Given the description of an element on the screen output the (x, y) to click on. 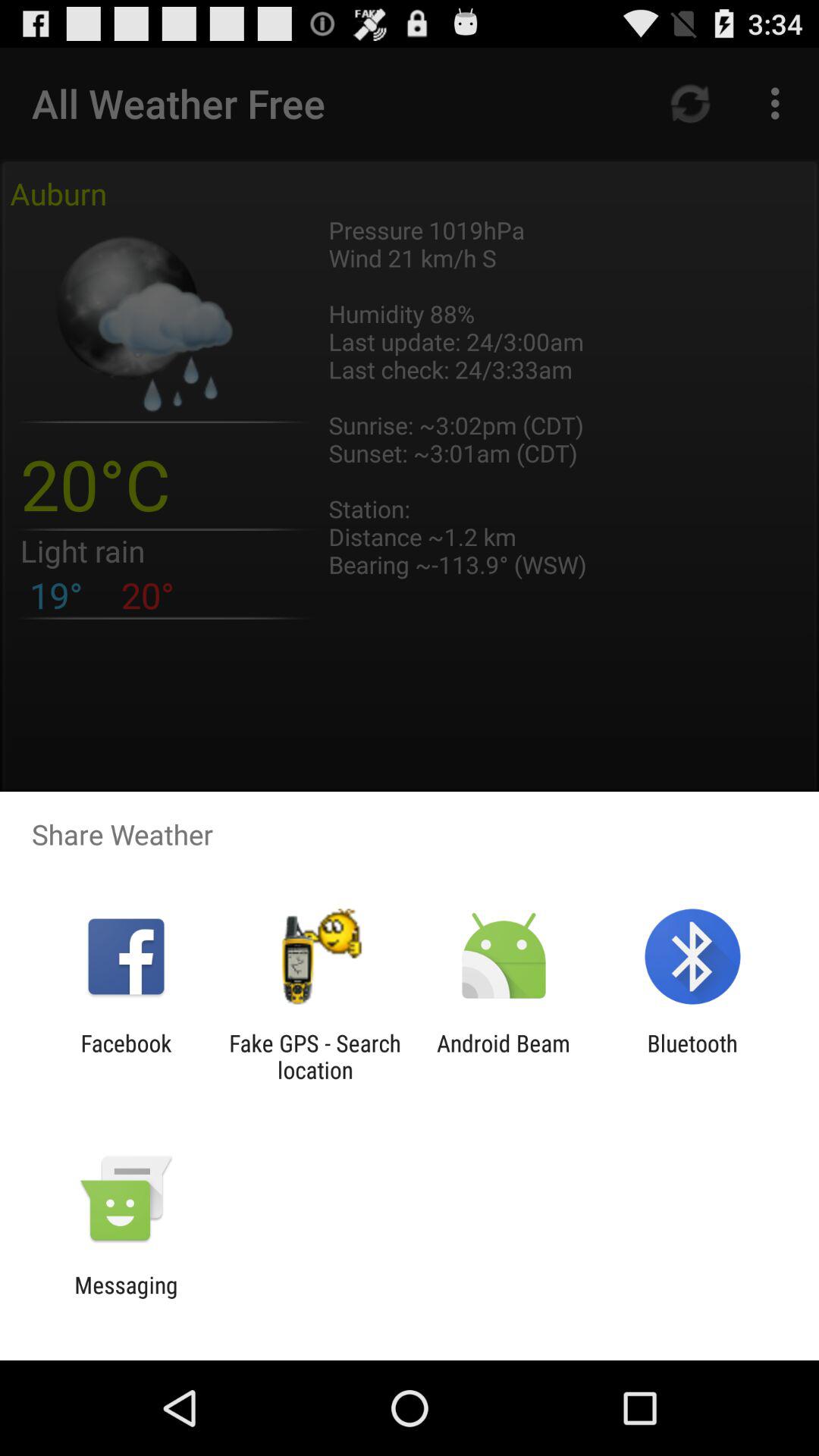
choose icon next to fake gps search app (503, 1056)
